Given the description of an element on the screen output the (x, y) to click on. 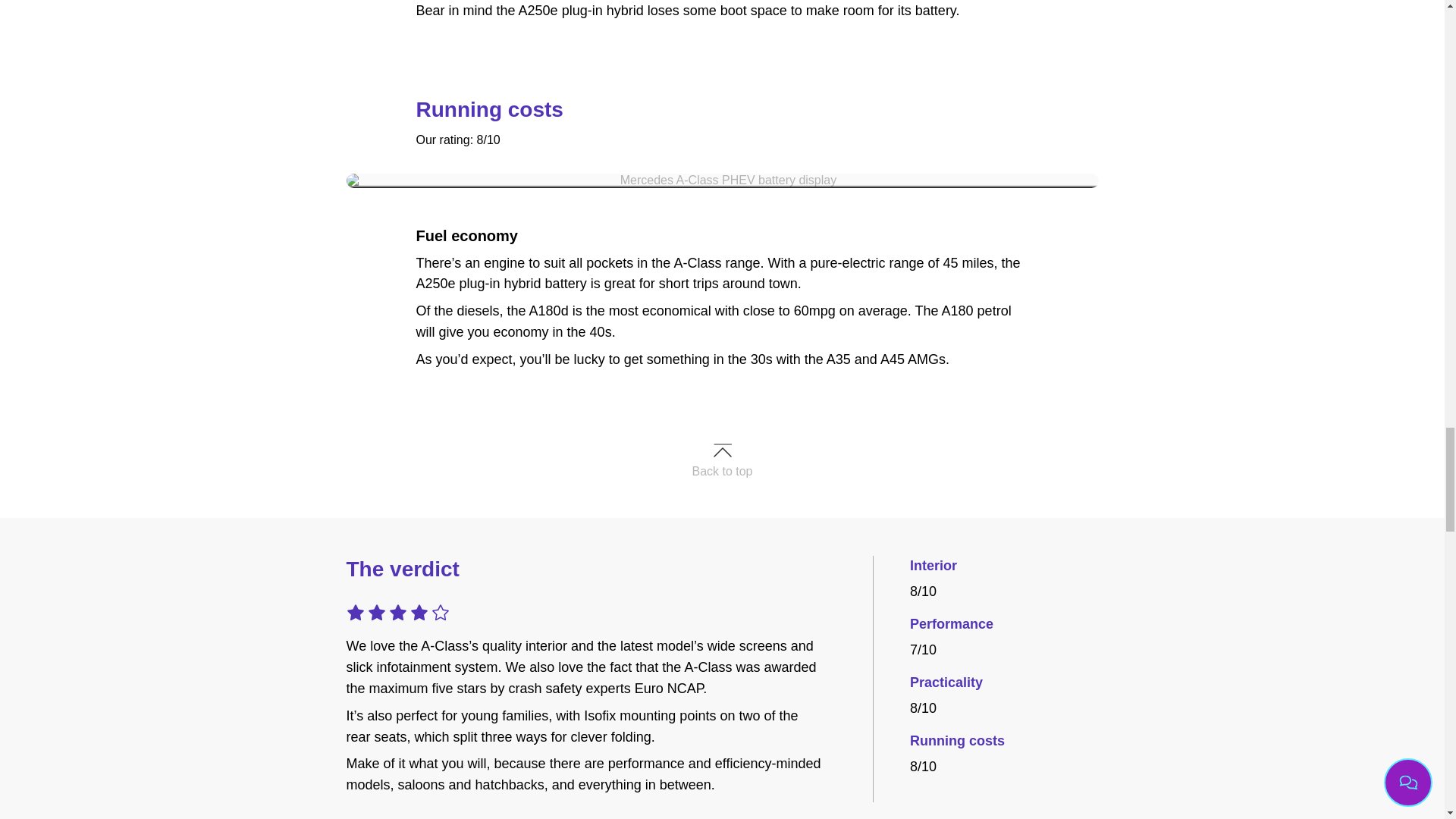
Back to top (722, 471)
